Given the description of an element on the screen output the (x, y) to click on. 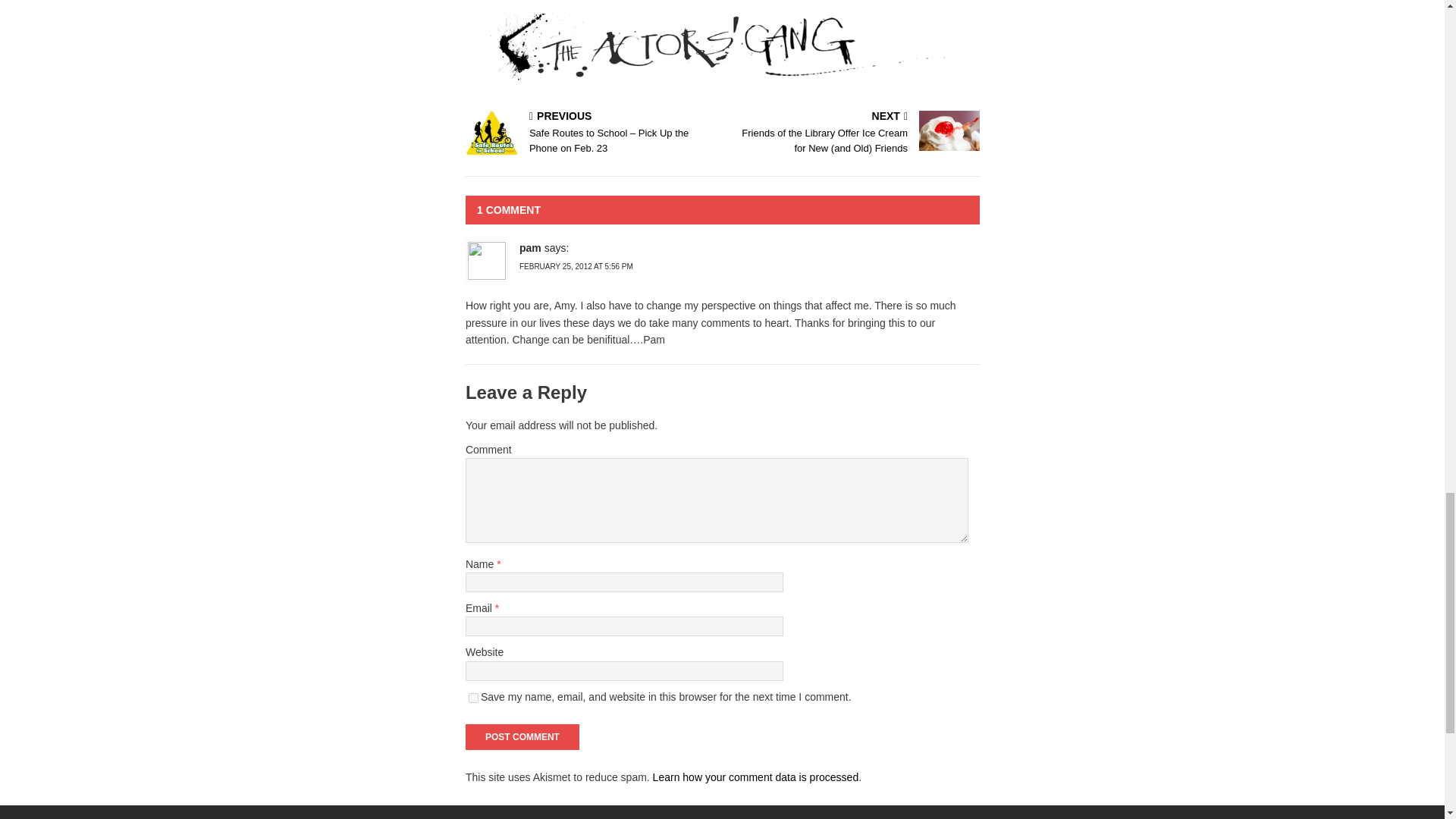
Post Comment (522, 736)
yes (473, 697)
